Given the description of an element on the screen output the (x, y) to click on. 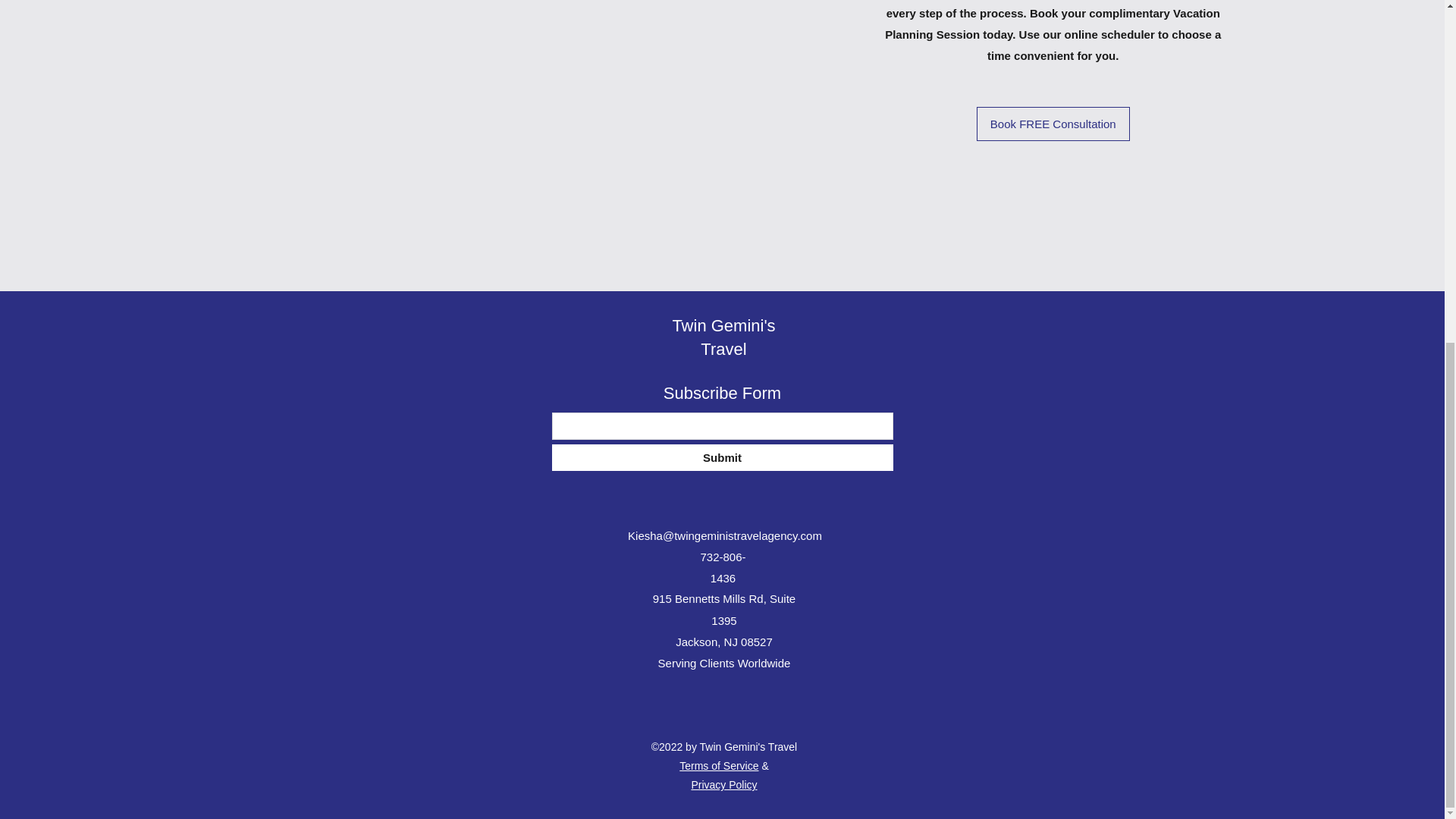
Book FREE Consultation (1052, 123)
Privacy Policy (723, 784)
Submit (722, 457)
Terms of Service (718, 766)
Twin Gemini's Travel (722, 337)
